Given the description of an element on the screen output the (x, y) to click on. 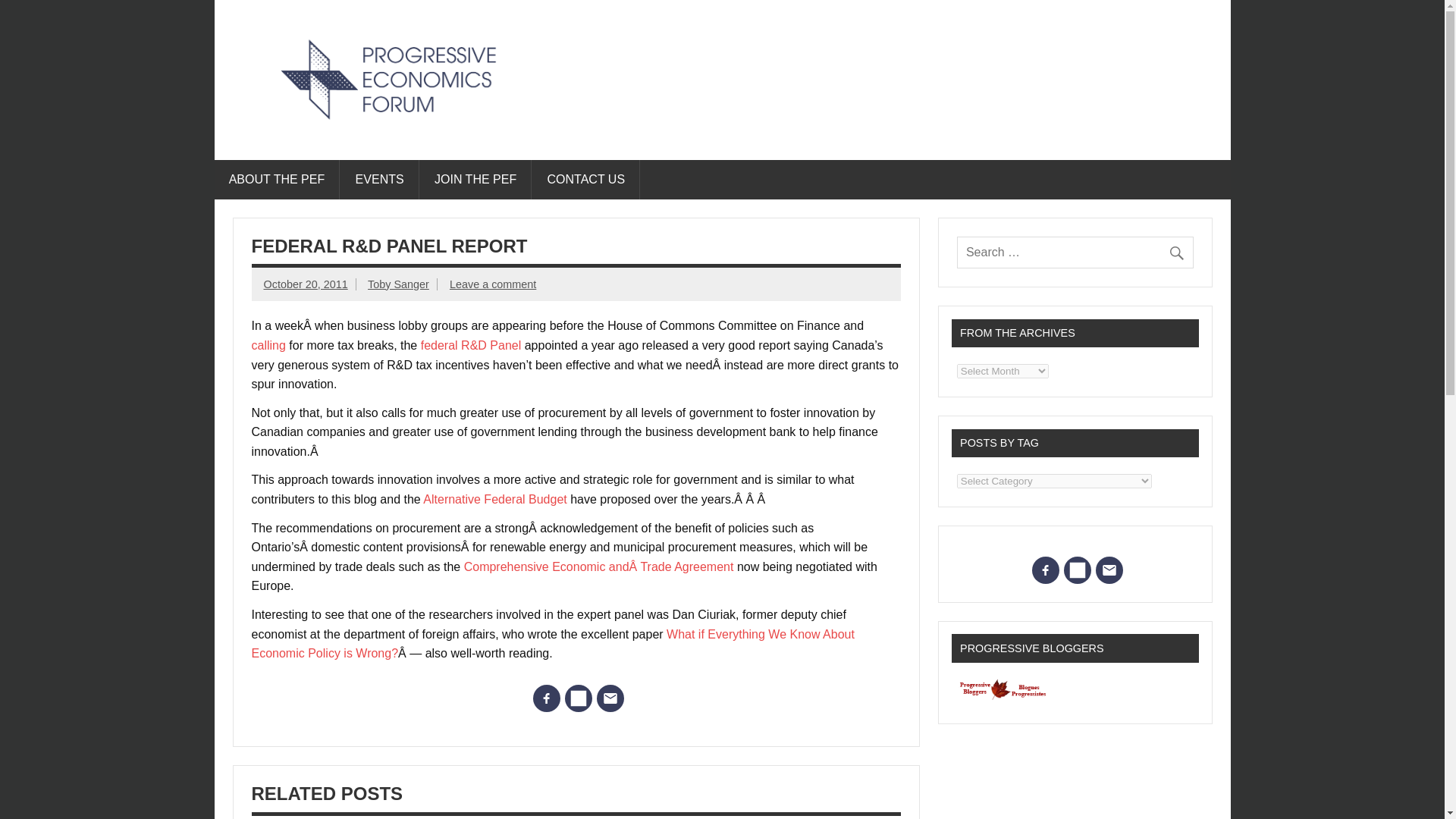
View all posts by Toby Sanger (398, 284)
Toby Sanger (398, 284)
The Progressive Economics Forum (504, 138)
ABOUT THE PEF (276, 179)
9:35 am (305, 284)
CONTACT US (586, 179)
What if Everything We Know About Economic Policy is Wrong? (552, 644)
October 20, 2011 (305, 284)
calling (268, 345)
Leave a comment (492, 284)
EVENTS (379, 179)
Alternative Federal Budget (496, 499)
JOIN THE PEF (476, 179)
